Given the description of an element on the screen output the (x, y) to click on. 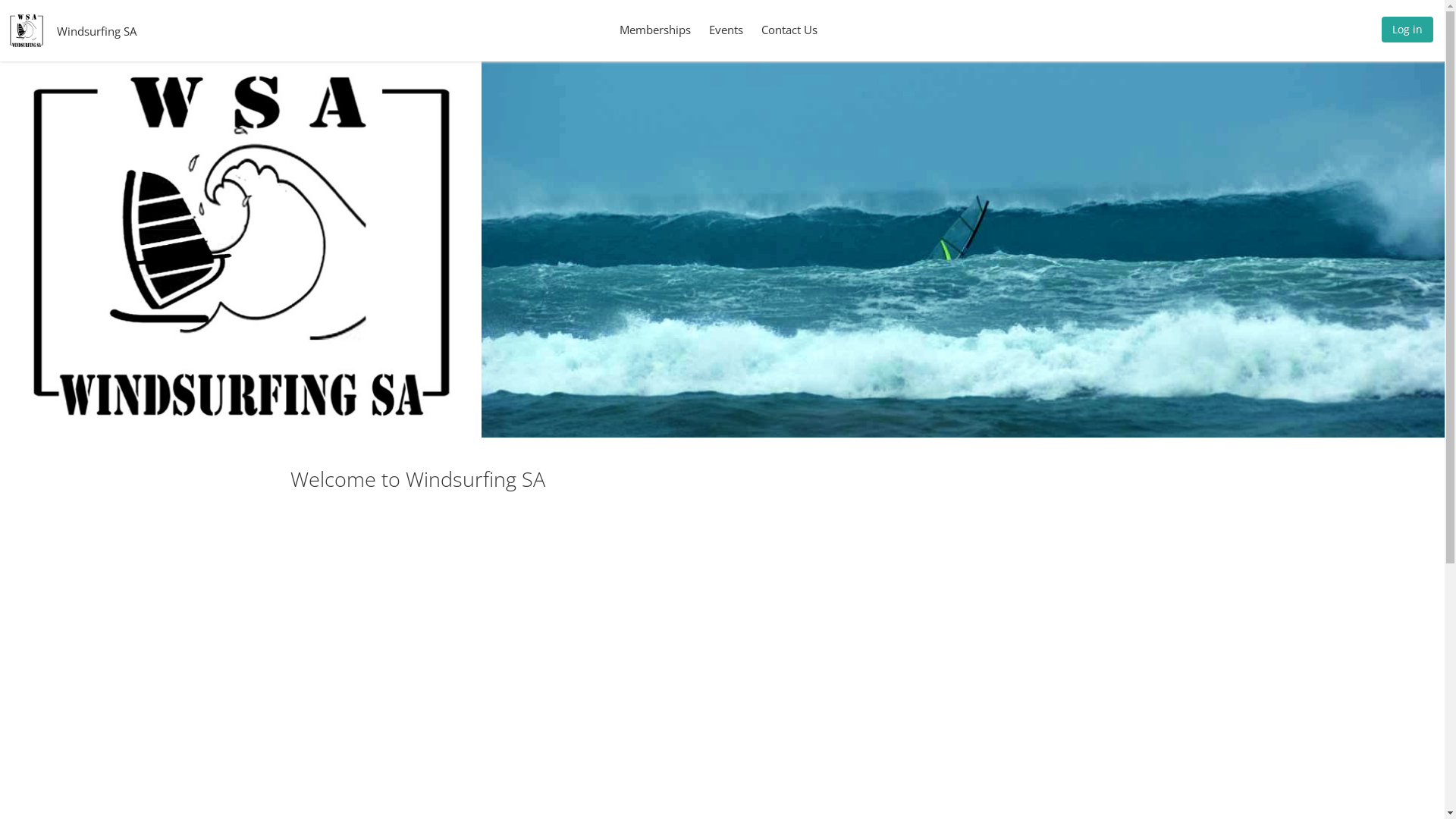
Windsurfing SA Element type: text (96, 29)
Contact Us Element type: text (789, 29)
Log in Element type: text (1407, 32)
Events Element type: text (725, 29)
Memberships Element type: text (654, 29)
